Given the description of an element on the screen output the (x, y) to click on. 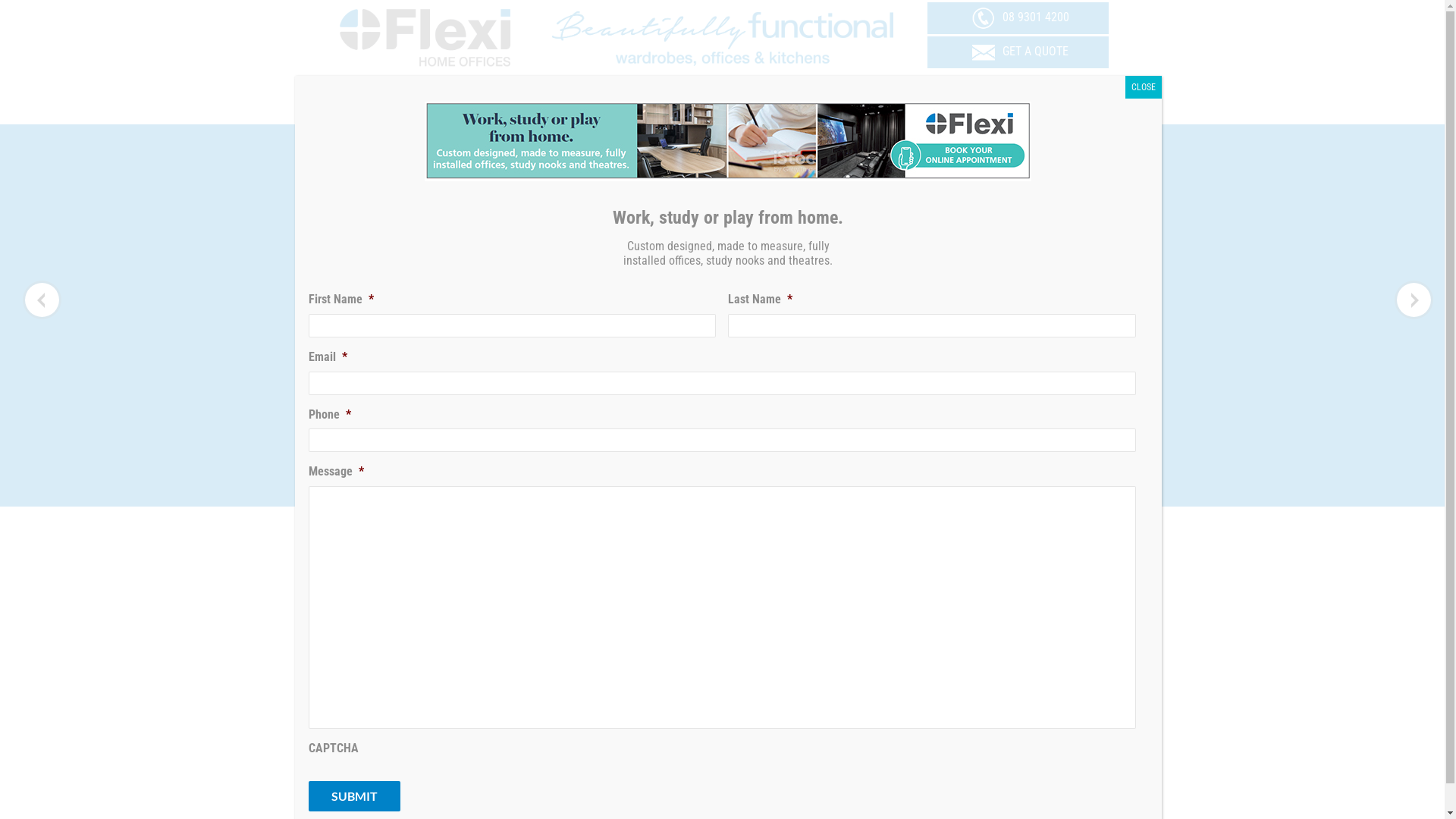
OUR HOME OFFICES Element type: text (638, 488)
ABOUT US Element type: text (537, 488)
BEFORE & AFTER Element type: text (757, 488)
SEE OUR KITCHENS Element type: text (1018, 101)
08 9301 4200 Element type: text (1018, 16)
Submit Element type: text (353, 796)
SEE OUR REVIEWS Element type: text (426, 101)
HOME Element type: text (475, 488)
SEE OUR HOME THEATRES Element type: text (821, 101)
GET A QUOTE Element type: text (1018, 51)
CONTACT Element type: text (949, 488)
home office design Element type: text (959, 805)
CLOSE Element type: text (1143, 86)
BLOG Element type: text (891, 488)
SEE OUR WARDROBES Element type: text (624, 101)
VIDEOS Element type: text (838, 488)
